Given the description of an element on the screen output the (x, y) to click on. 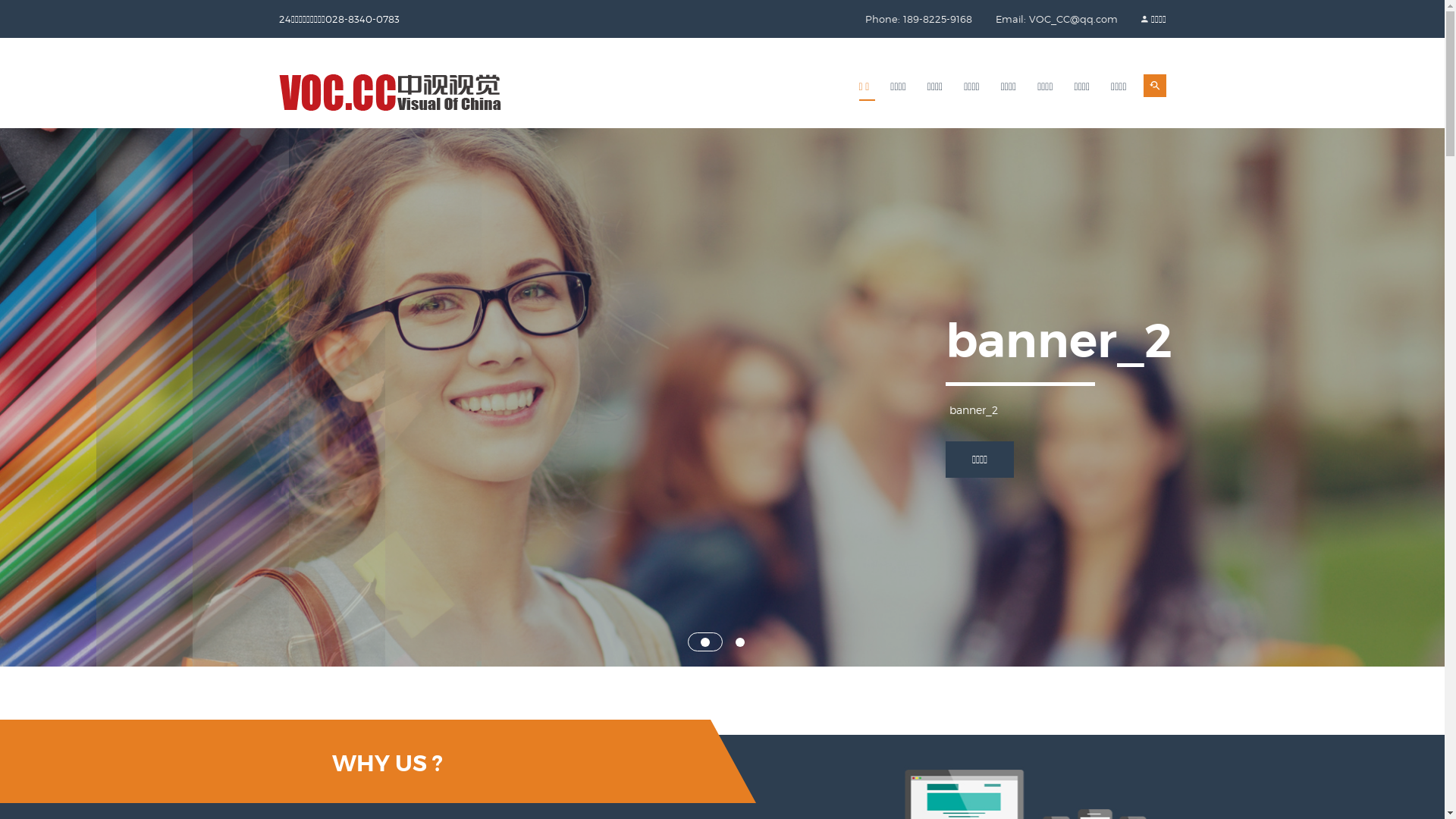
1 Element type: text (704, 641)
2 Element type: text (739, 641)
